Given the description of an element on the screen output the (x, y) to click on. 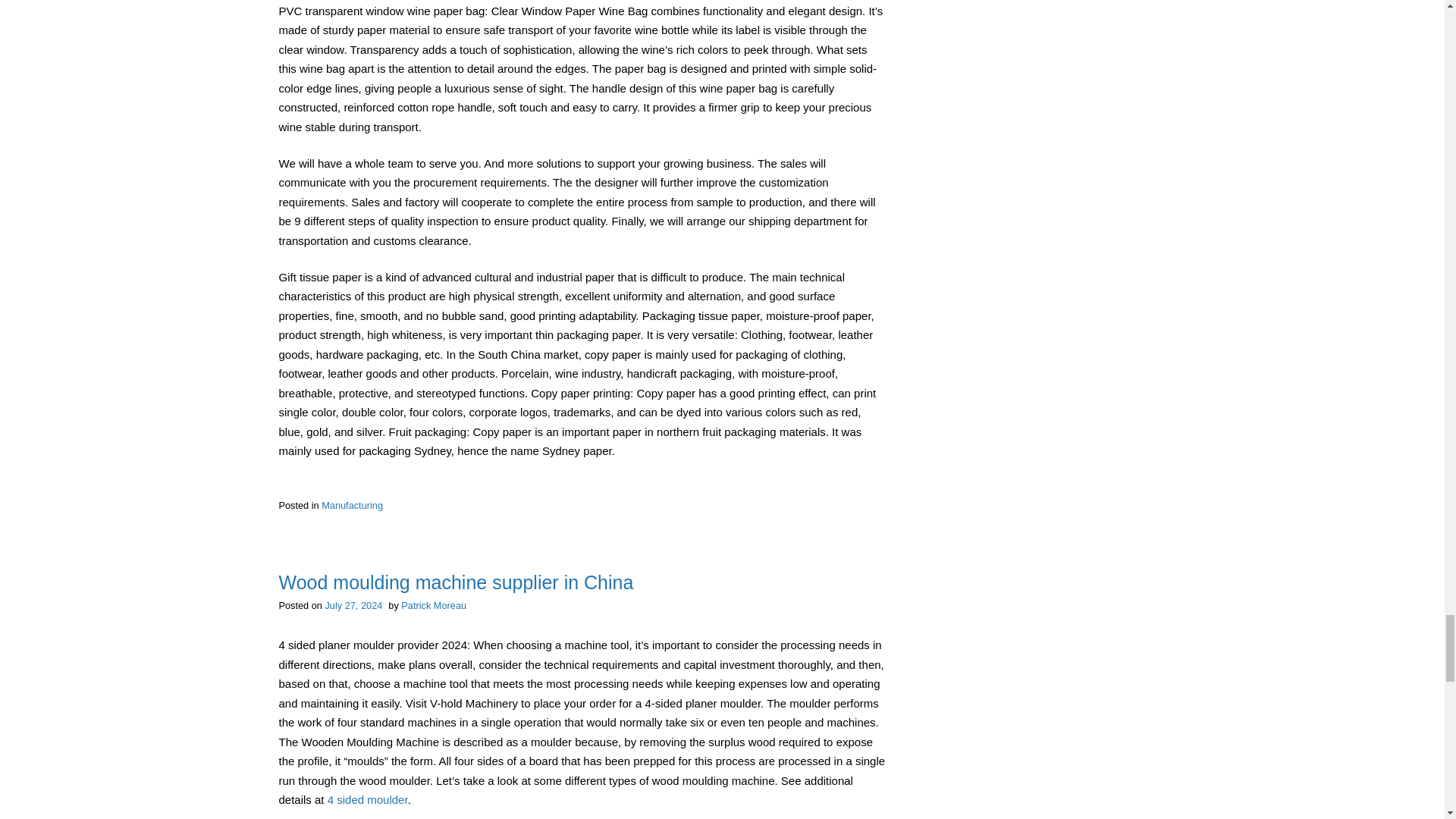
Manufacturing (351, 505)
4 sided moulder (367, 799)
Patrick Moreau (433, 604)
July 27, 2024 (352, 604)
Wood moulding machine supplier in China (456, 581)
